Given the description of an element on the screen output the (x, y) to click on. 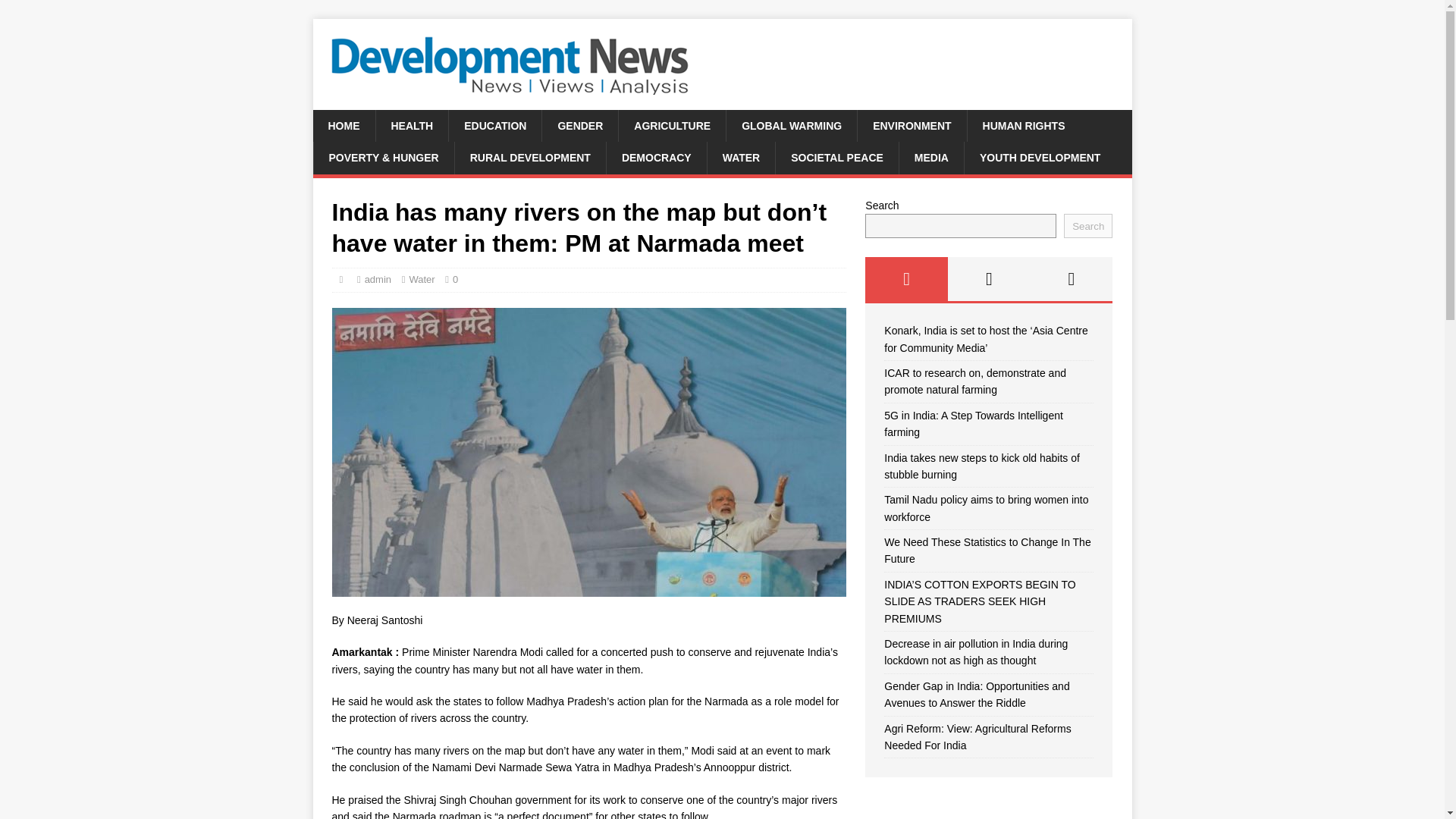
ENVIRONMENT (911, 125)
WATER (741, 157)
GLOBAL WARMING (791, 125)
MEDIA (930, 157)
GENDER (579, 125)
DEMOCRACY (655, 157)
YOUTH DEVELOPMENT (1039, 157)
HUMAN RIGHTS (1023, 125)
HEALTH (411, 125)
RURAL DEVELOPMENT (529, 157)
AGRICULTURE (671, 125)
Water (421, 279)
admin (378, 279)
HOME (343, 125)
EDUCATION (494, 125)
